Given the description of an element on the screen output the (x, y) to click on. 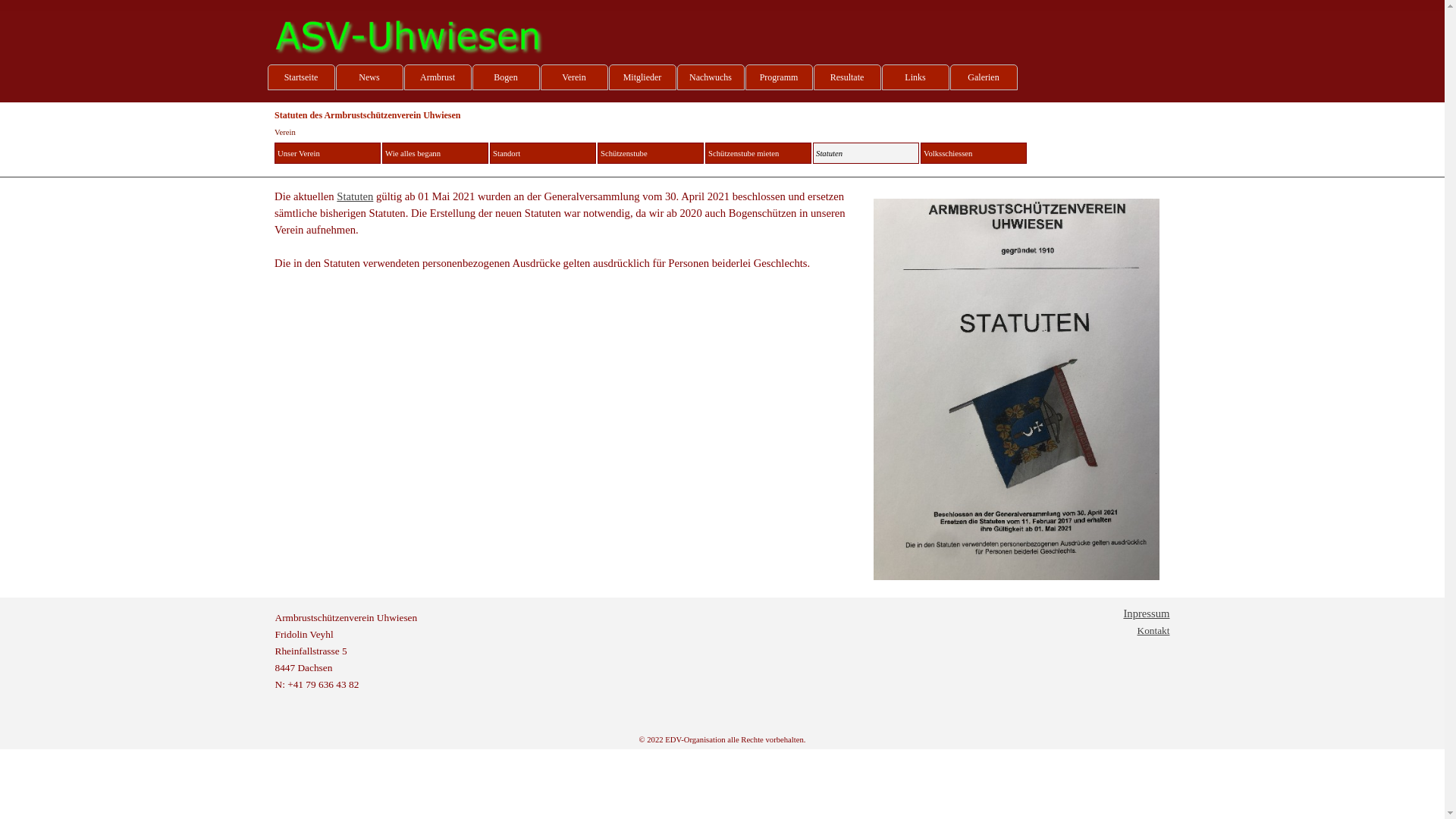
Kontakt Element type: text (1153, 630)
Bogen Element type: text (505, 77)
Resultate Element type: text (846, 77)
Wie alles begann Element type: text (435, 153)
Verein Element type: text (573, 77)
Links Element type: text (914, 77)
Inpressum Element type: text (1146, 613)
Volksschiessen Element type: text (973, 153)
Programm Element type: text (778, 77)
Unser Verein Element type: text (327, 153)
Startseite Element type: text (300, 77)
Verein Element type: text (284, 132)
ASV Uhwiesen Element type: hover (410, 37)
News Element type: text (368, 77)
Standort Element type: text (542, 153)
Statuten Element type: text (354, 196)
Armbrust Element type: text (436, 77)
Nachwuchs Element type: text (709, 77)
Mitglieder Element type: text (641, 77)
Statuten Element type: text (865, 153)
Galerien Element type: text (982, 77)
